Given the description of an element on the screen output the (x, y) to click on. 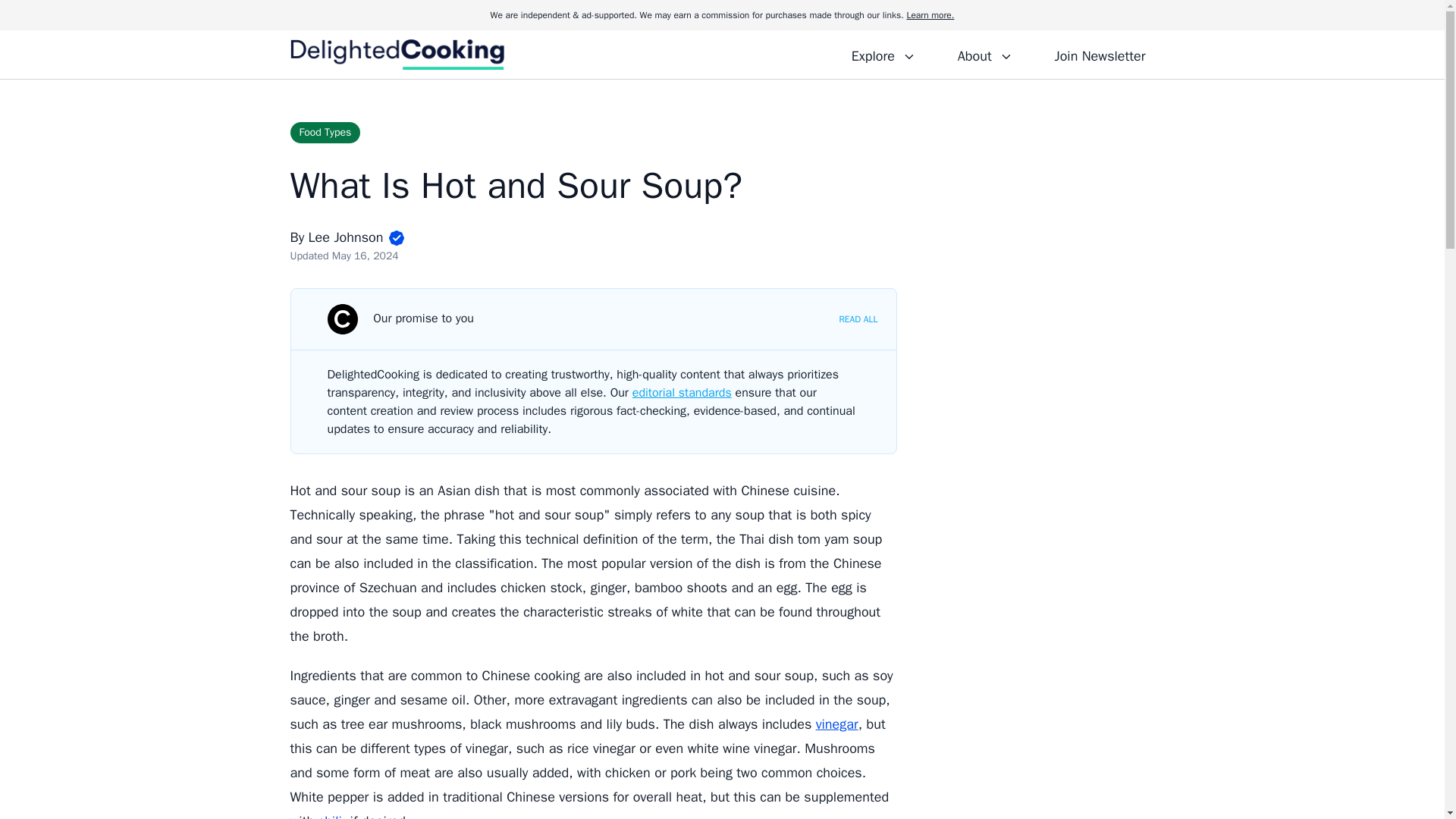
READ ALL (857, 318)
vinegar (837, 723)
Learn more. (929, 15)
chili (330, 816)
About (984, 54)
Explore (883, 54)
Join Newsletter (1099, 54)
editorial standards (681, 393)
Food Types (324, 132)
